Given the description of an element on the screen output the (x, y) to click on. 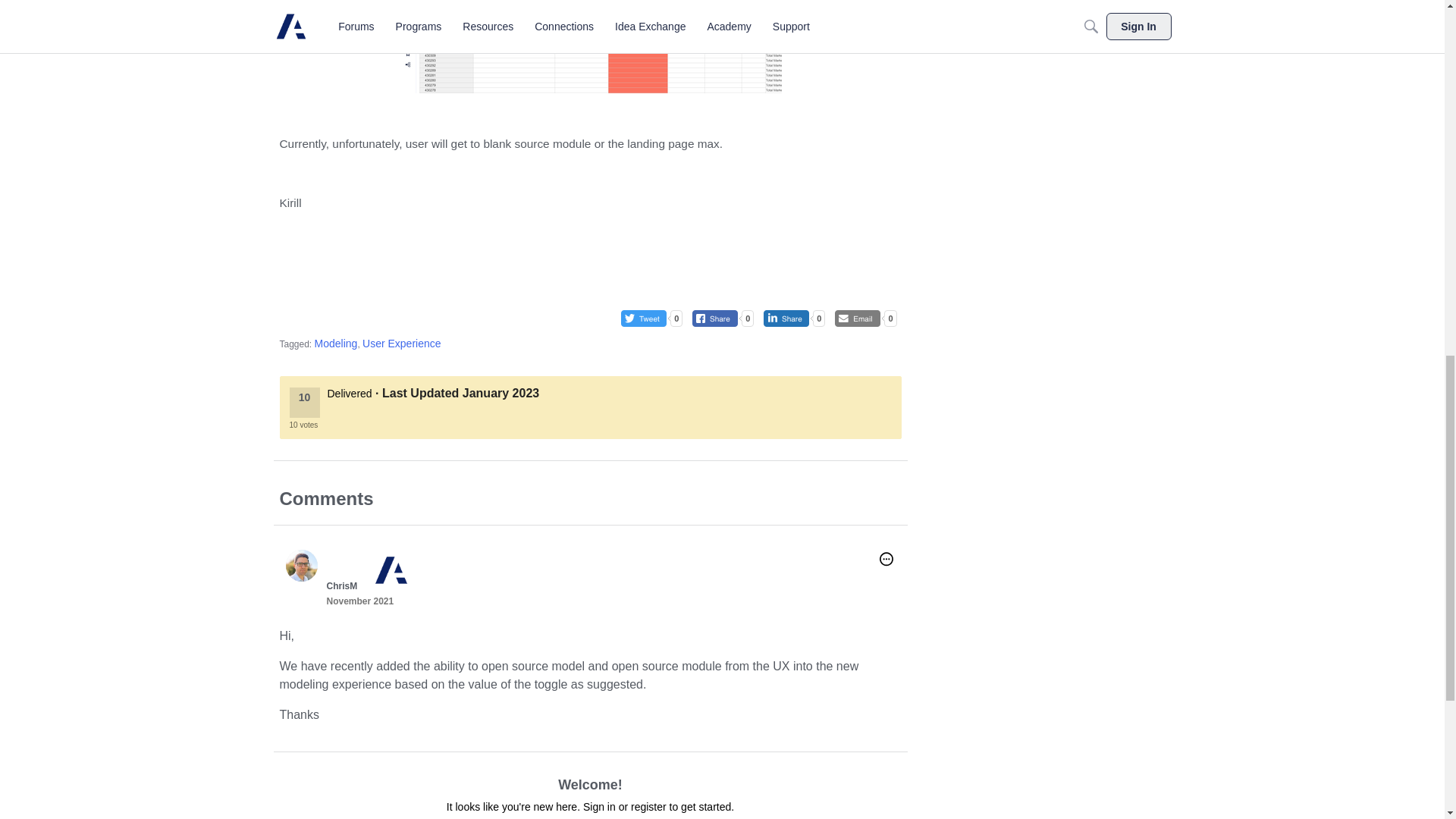
User Experience (401, 343)
November 8, 2021 8:02AM (359, 601)
ChrisM (301, 565)
Delivered (349, 393)
ChrisM (341, 585)
Modeling (336, 343)
Anaplan Employee (386, 558)
January 2, 2023 2:21AM (500, 392)
November 2021 (359, 601)
